Given the description of an element on the screen output the (x, y) to click on. 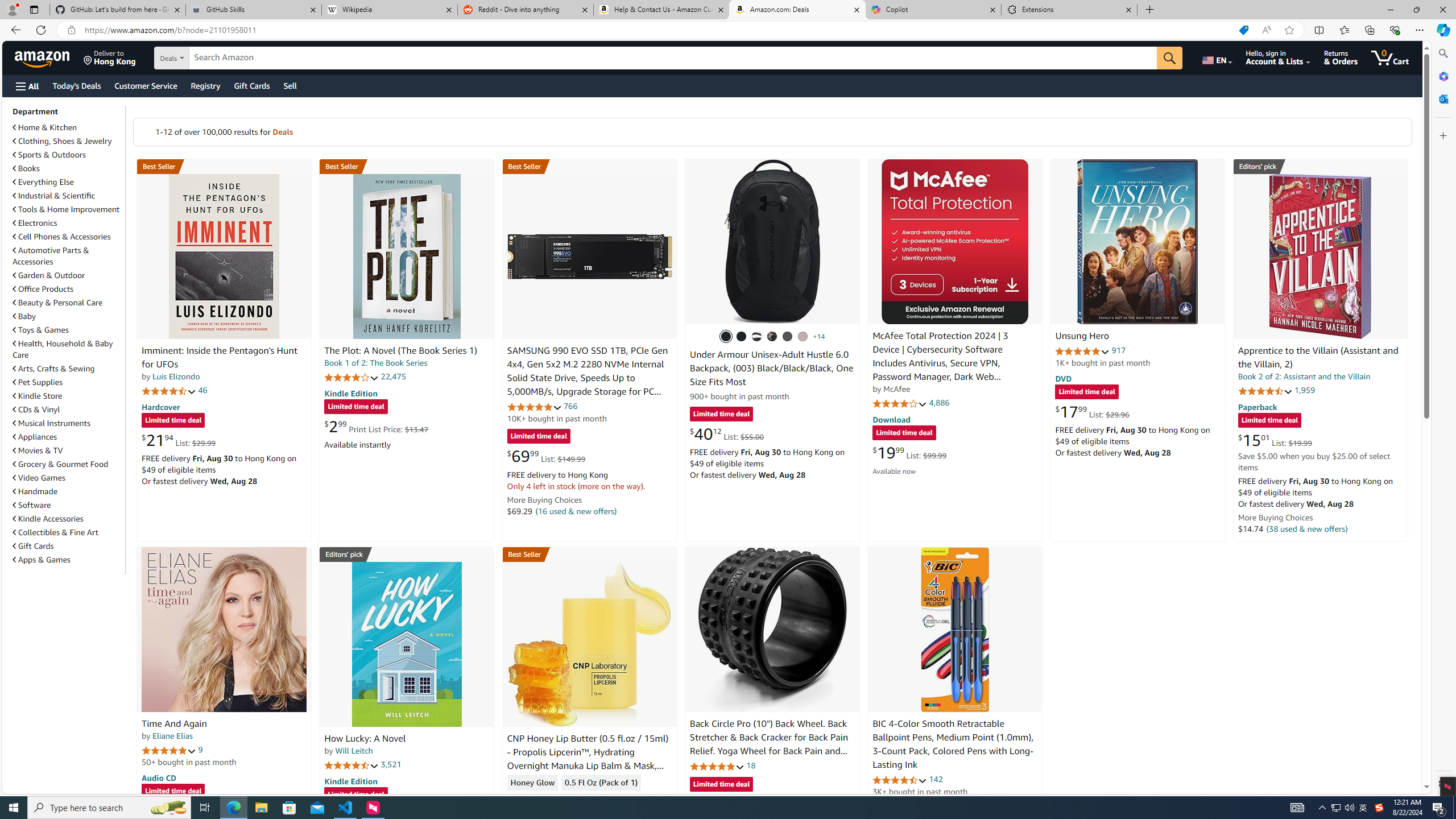
Paperback (1256, 406)
Office Products (67, 288)
Sports & Outdoors (49, 154)
GitHub Skills (253, 9)
Extensions (1068, 9)
Cell Phones & Accessories (67, 236)
Deliver to Hong Kong (109, 57)
0 items in cart (1389, 57)
Reddit - Dive into anything (525, 9)
Apps & Games (67, 559)
The Plot: A Novel (The Book Series 1) (400, 351)
Go (1169, 57)
